Given the description of an element on the screen output the (x, y) to click on. 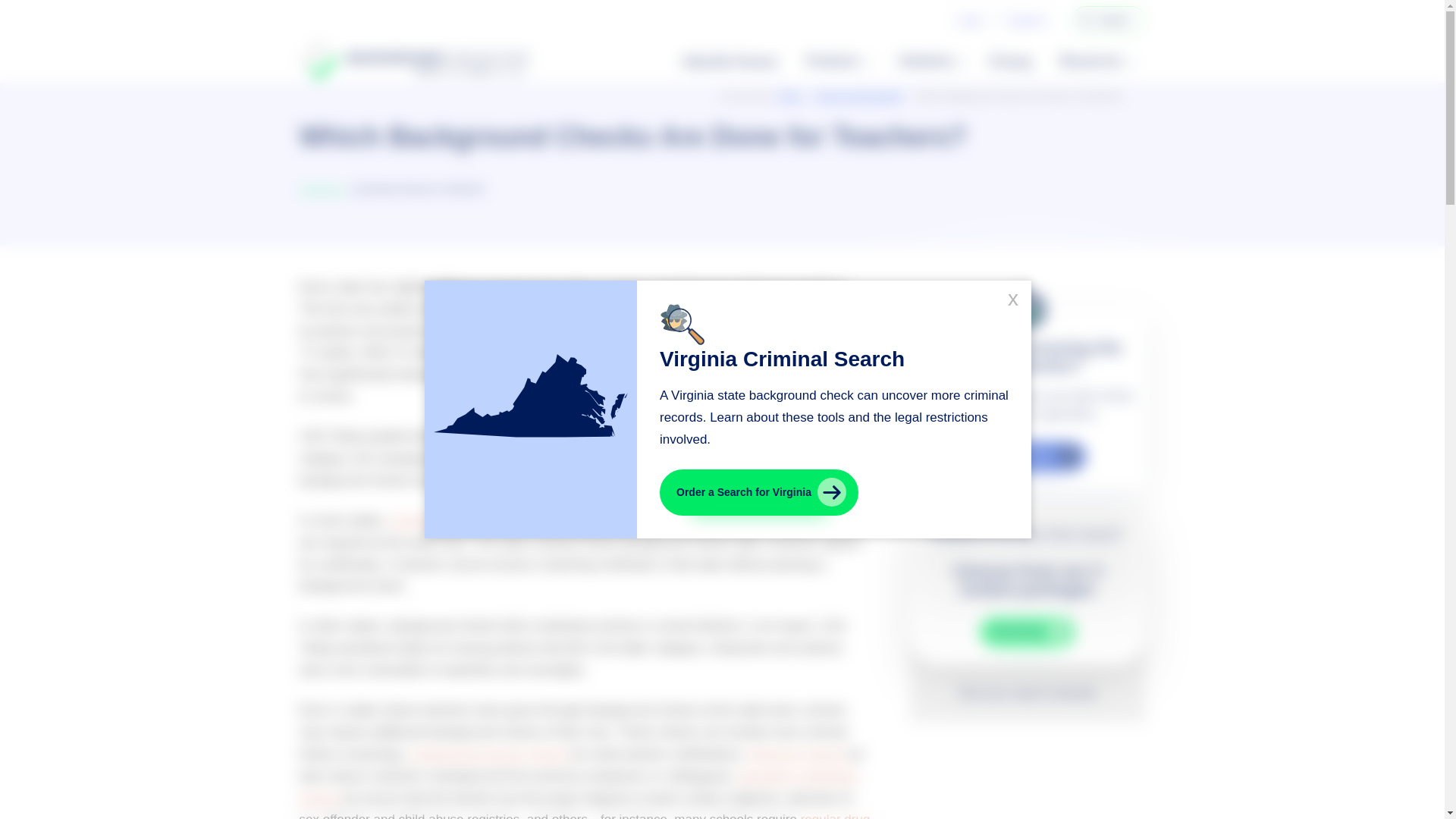
Search (1085, 20)
